Given the description of an element on the screen output the (x, y) to click on. 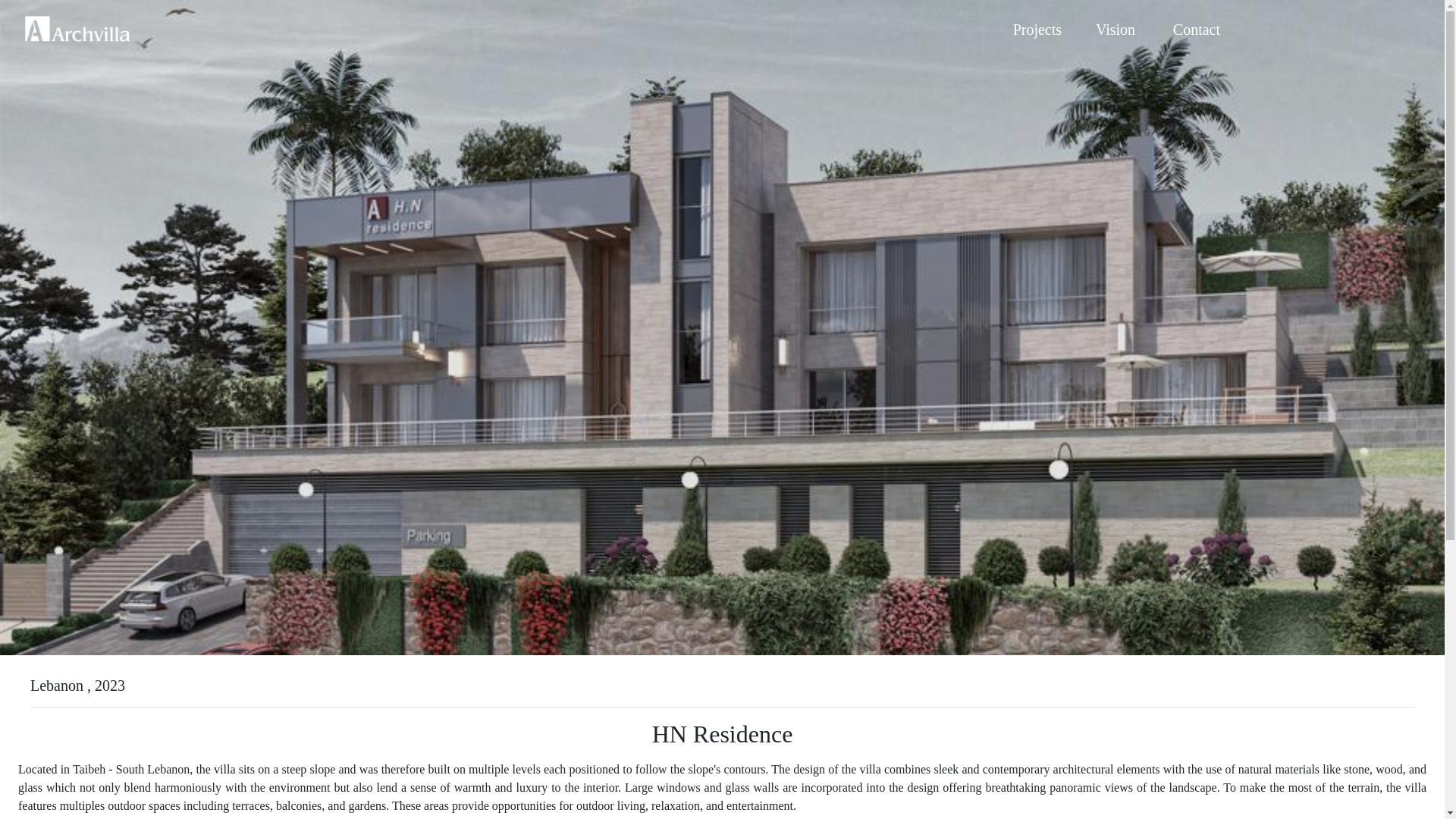
Vision (1115, 28)
Contact (1195, 28)
Projects (1035, 28)
